Given the description of an element on the screen output the (x, y) to click on. 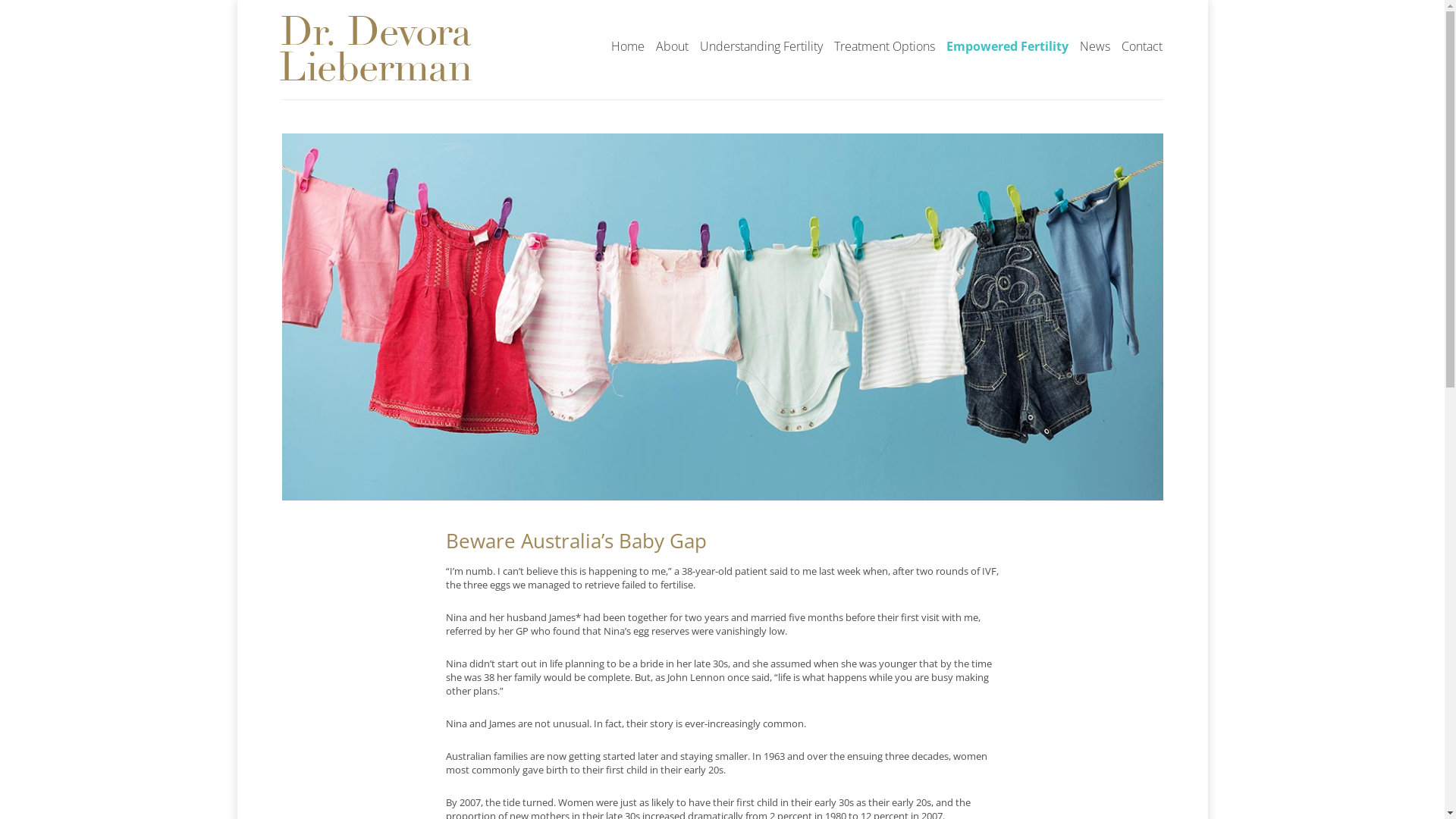
Understanding Fertility Element type: text (761, 46)
Home Element type: text (626, 46)
About Element type: text (672, 46)
News Element type: text (1094, 46)
Treatment Options Element type: text (883, 46)
Empowered Fertility Element type: text (1006, 46)
Contact Element type: text (1141, 46)
